Given the description of an element on the screen output the (x, y) to click on. 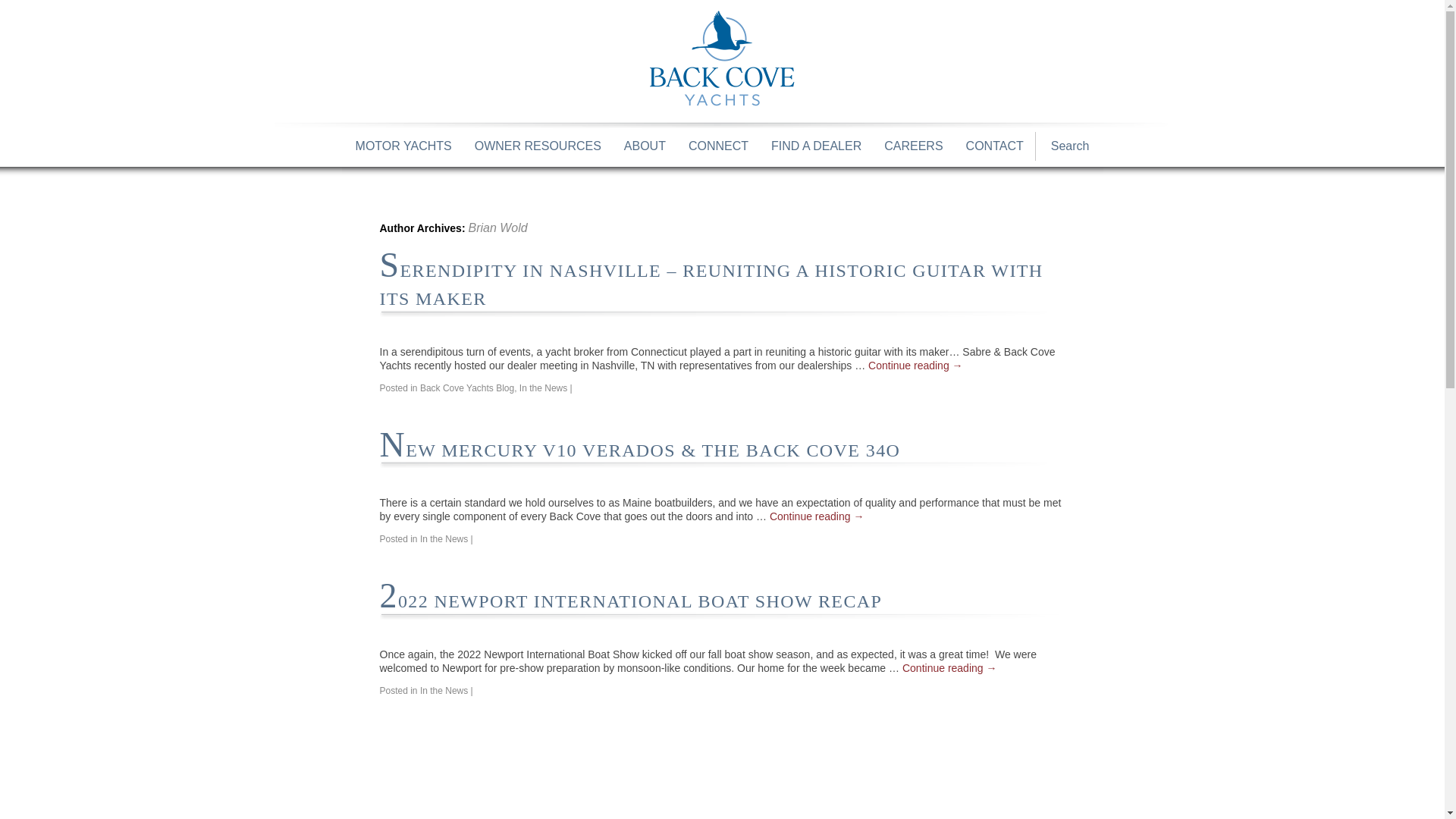
In the News (443, 690)
In the News (443, 538)
Back Cove Yachts Blog (466, 388)
MOTOR YACHTS (403, 145)
OWNER RESOURCES (537, 145)
CAREERS (912, 145)
Brian Wold (497, 227)
2022 NEWPORT INTERNATIONAL BOAT SHOW RECAP (630, 600)
ABOUT (644, 145)
FIND A DEALER (816, 145)
